Given the description of an element on the screen output the (x, y) to click on. 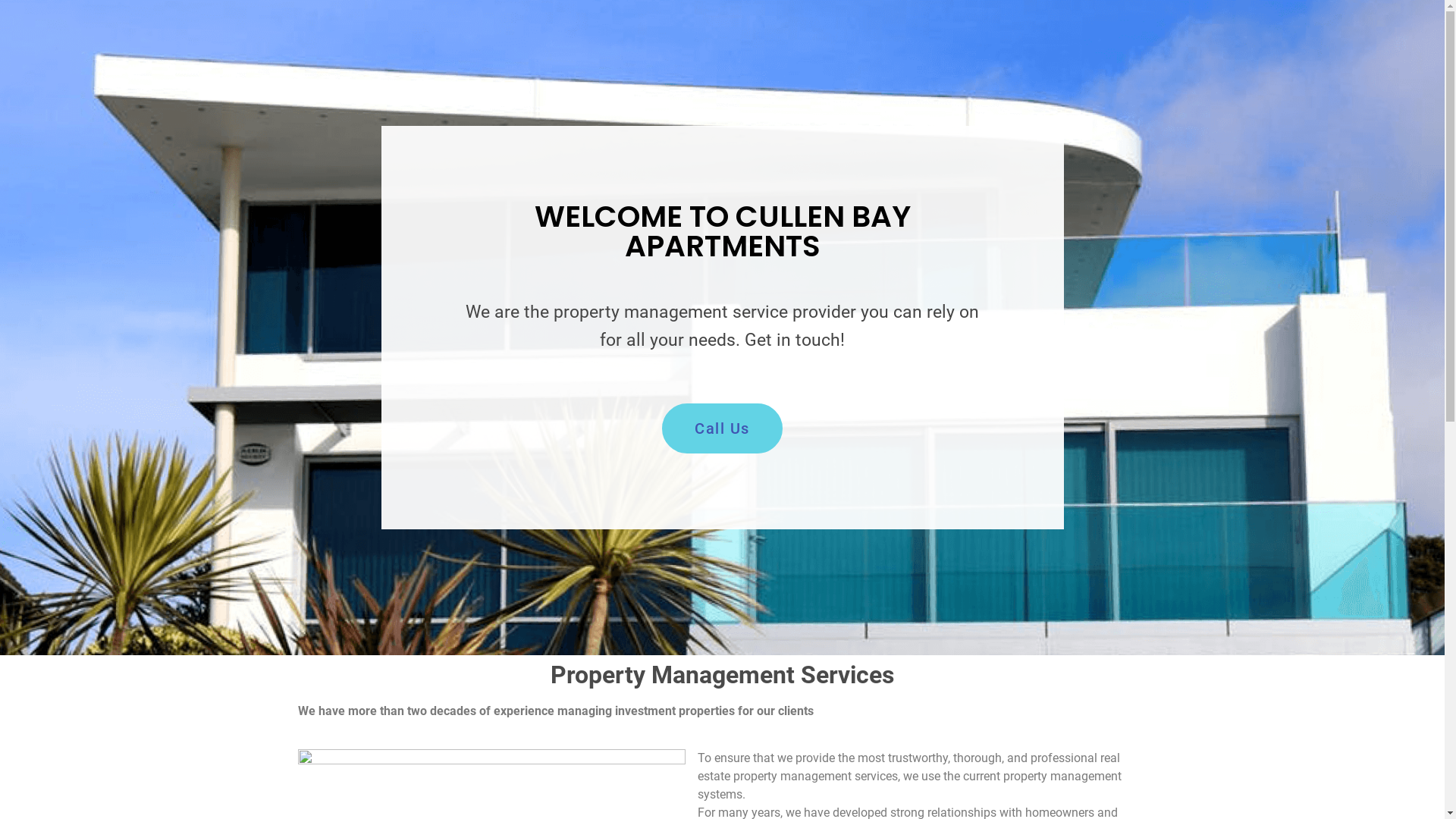
Call Us Element type: text (722, 428)
